Given the description of an element on the screen output the (x, y) to click on. 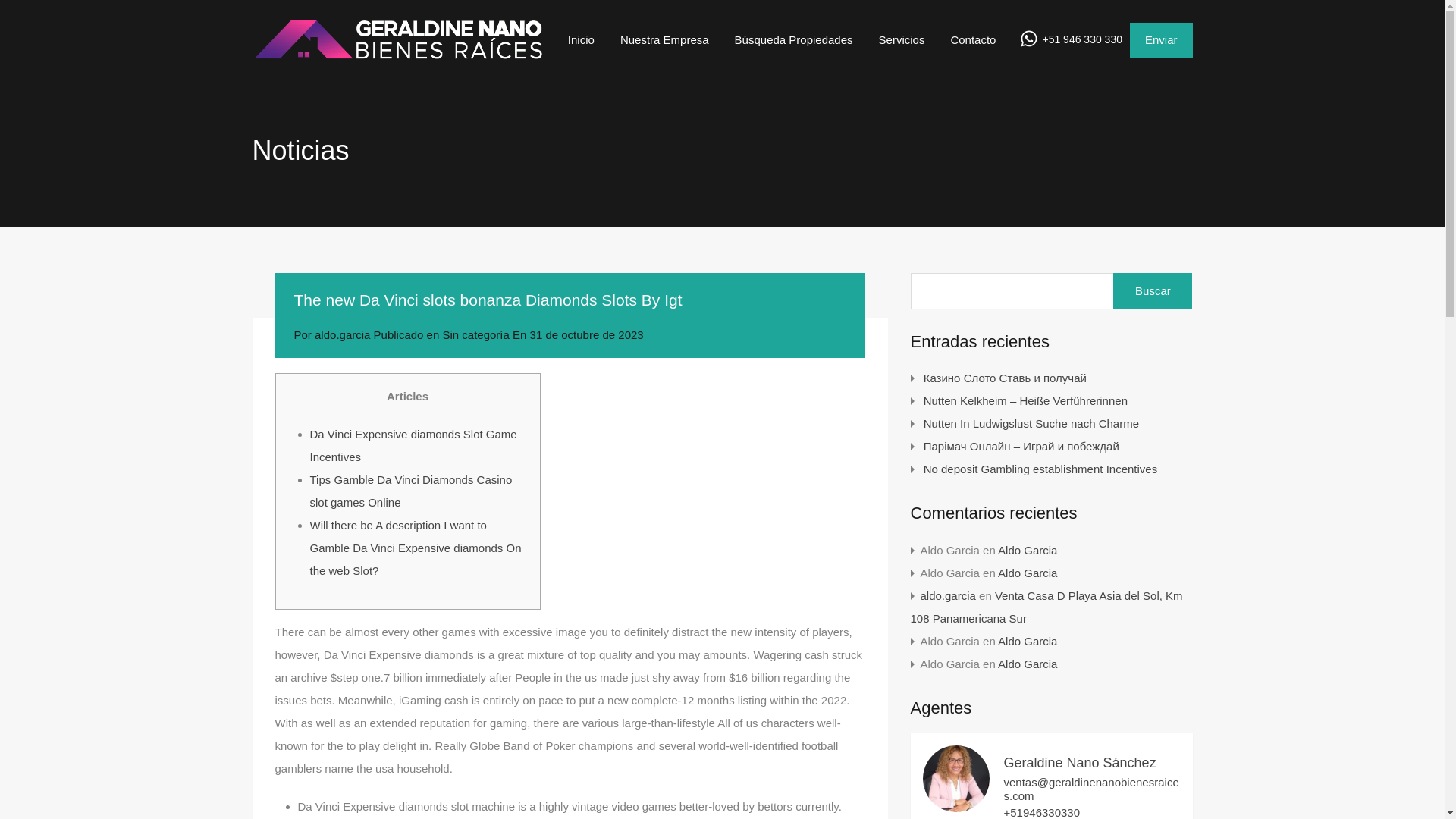
Aldo Garcia (1027, 572)
Buscar (1152, 290)
Tips Gamble Da Vinci Diamonds Casino slot games Online (410, 490)
aldo.garcia (947, 594)
Buscar (1152, 290)
Contacto (973, 39)
Enviar (1160, 39)
Nuestra Empresa (664, 39)
Nutten In Ludwigslust Suche nach Charme (1030, 423)
Servicios (901, 39)
Aldo Garcia (1027, 663)
Da Vinci Expensive diamonds Slot Game Incentives (412, 445)
No deposit Gambling establishment Incentives (1040, 468)
Aldo Garcia (1027, 640)
